Given the description of an element on the screen output the (x, y) to click on. 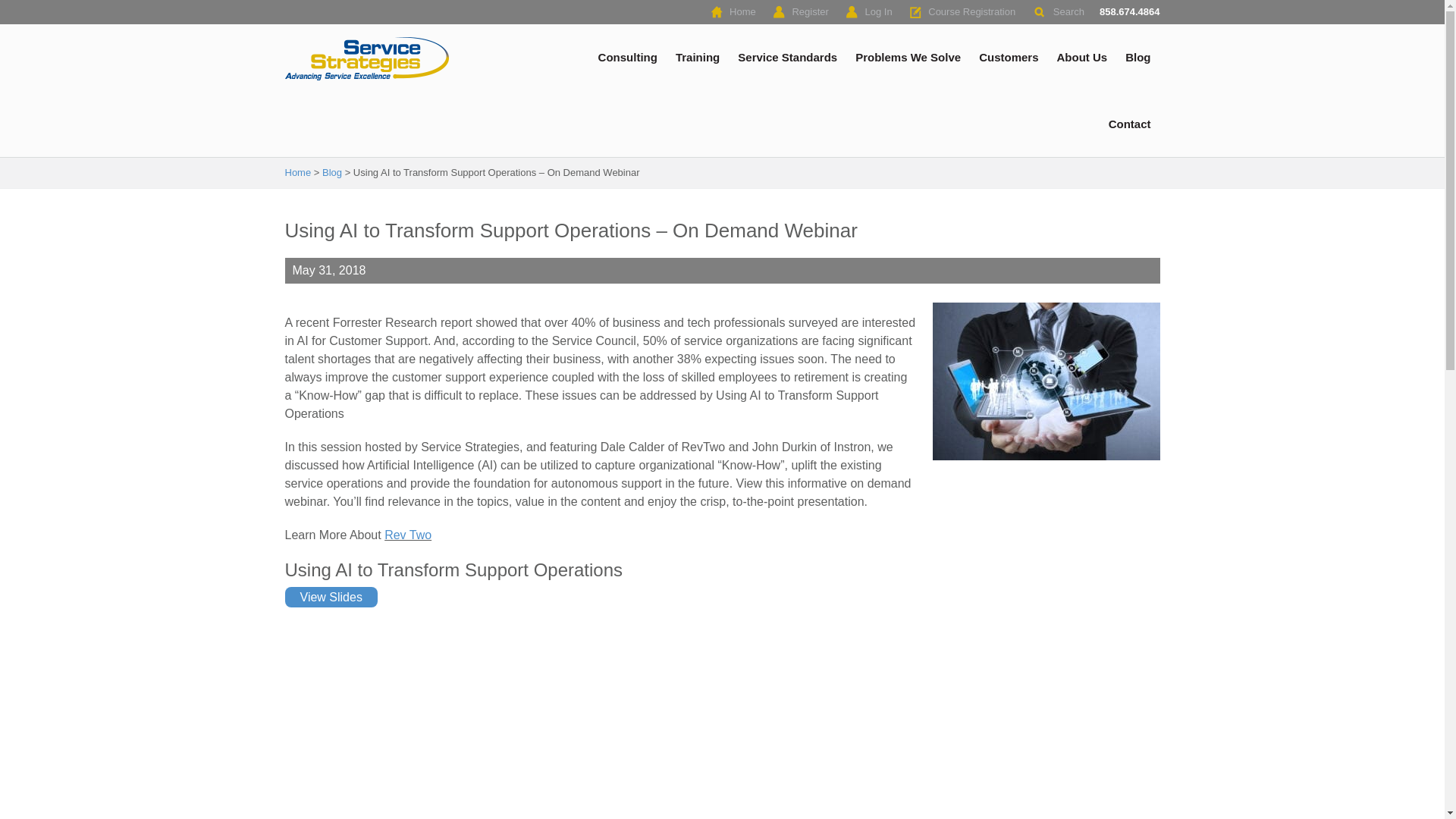
Log In (876, 12)
Consulting (627, 57)
Training (697, 57)
Register (808, 12)
Service Strategies (368, 58)
Consulting (627, 57)
Log In (876, 12)
Course Registration (970, 12)
Home (741, 12)
Register (808, 12)
Training (697, 57)
Home (741, 12)
